Given the description of an element on the screen output the (x, y) to click on. 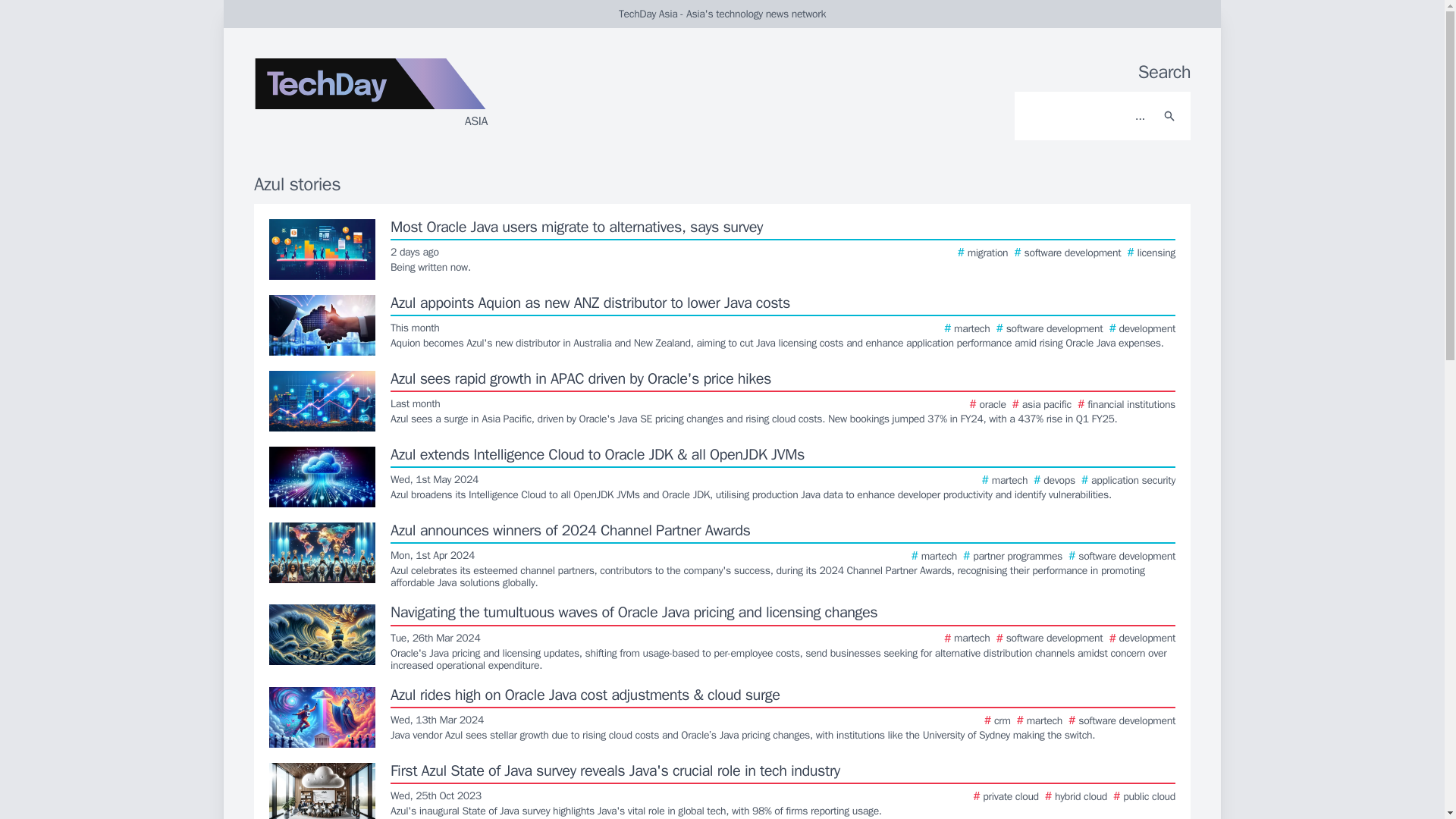
ASIA (435, 99)
